Given the description of an element on the screen output the (x, y) to click on. 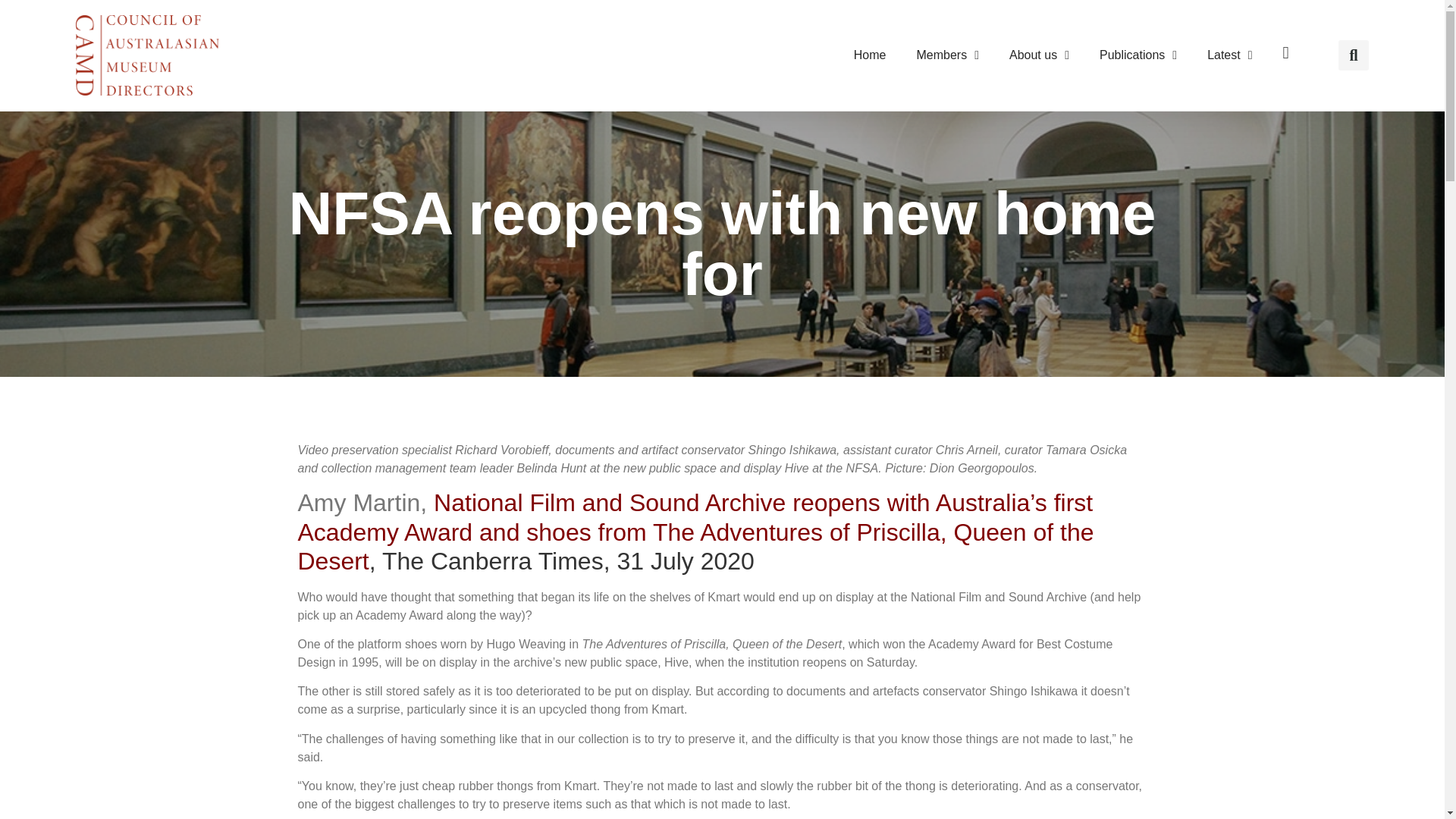
Members (947, 54)
Latest (1229, 54)
Home (869, 54)
Publications (1138, 54)
About us (1039, 54)
